Given the description of an element on the screen output the (x, y) to click on. 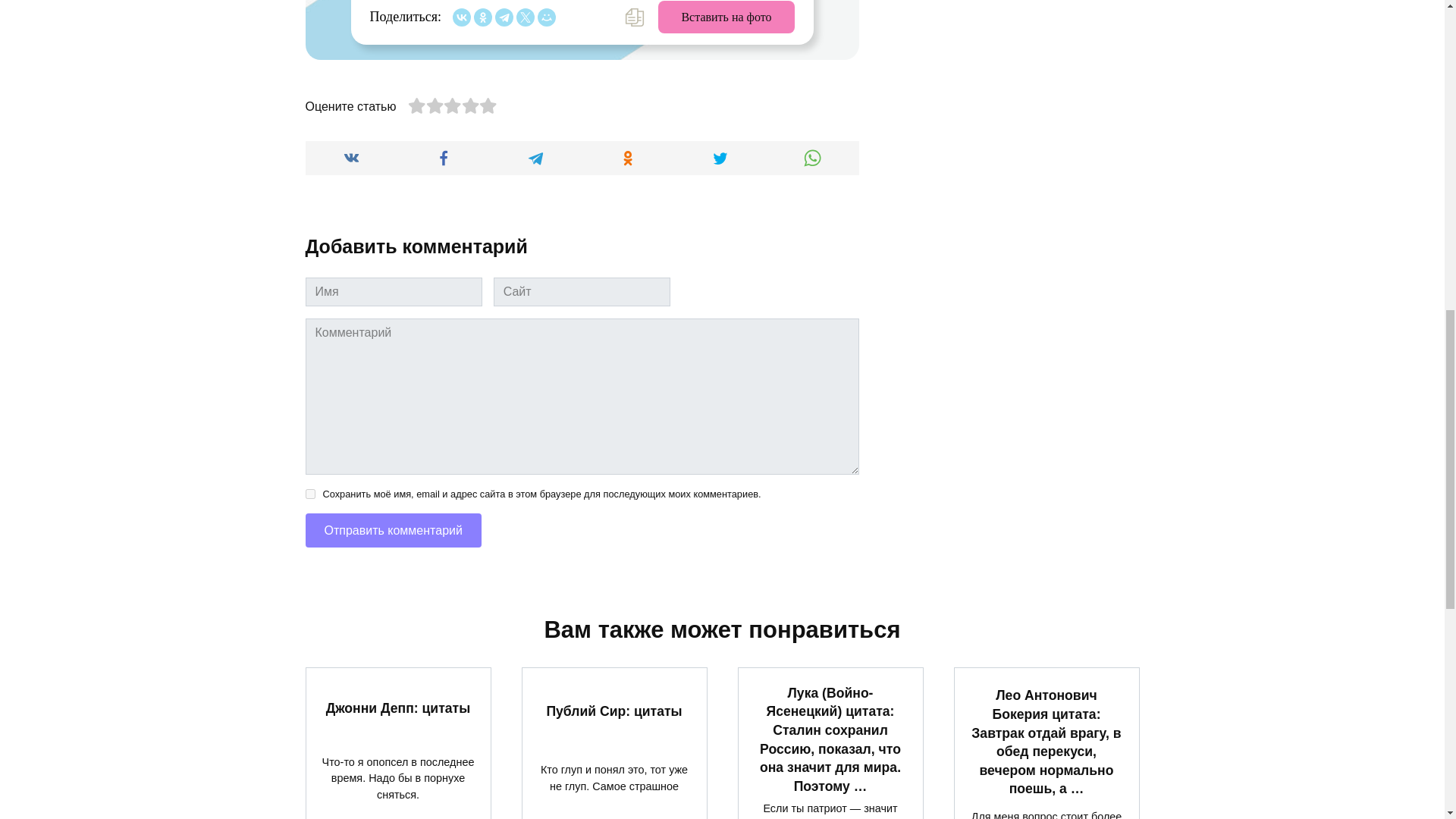
Twitter (525, 17)
yes (309, 493)
Telegram (504, 17)
